Given the description of an element on the screen output the (x, y) to click on. 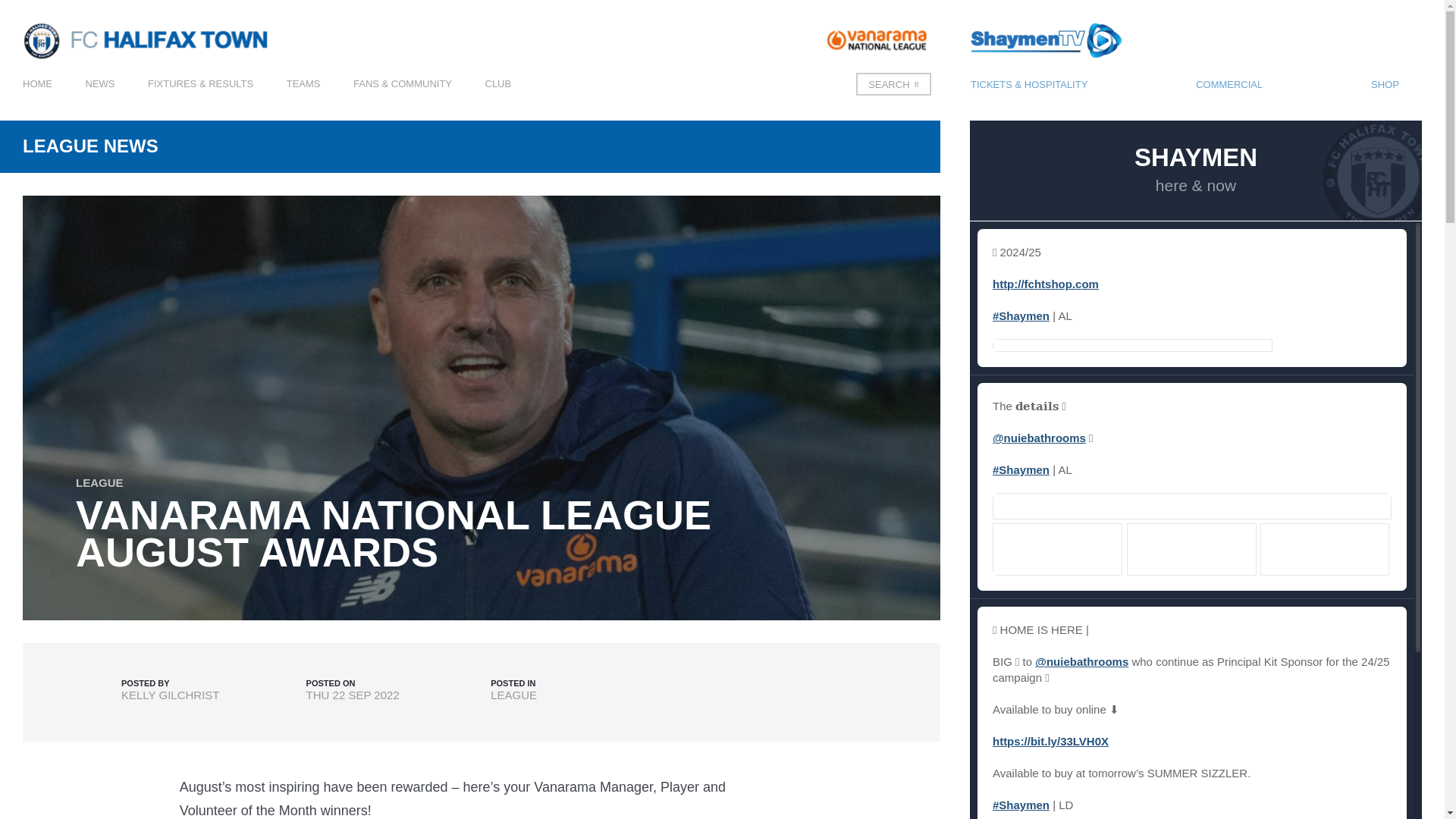
CLUB (498, 98)
HOME (37, 98)
NEWS (99, 98)
TEAMS (303, 98)
